Given the description of an element on the screen output the (x, y) to click on. 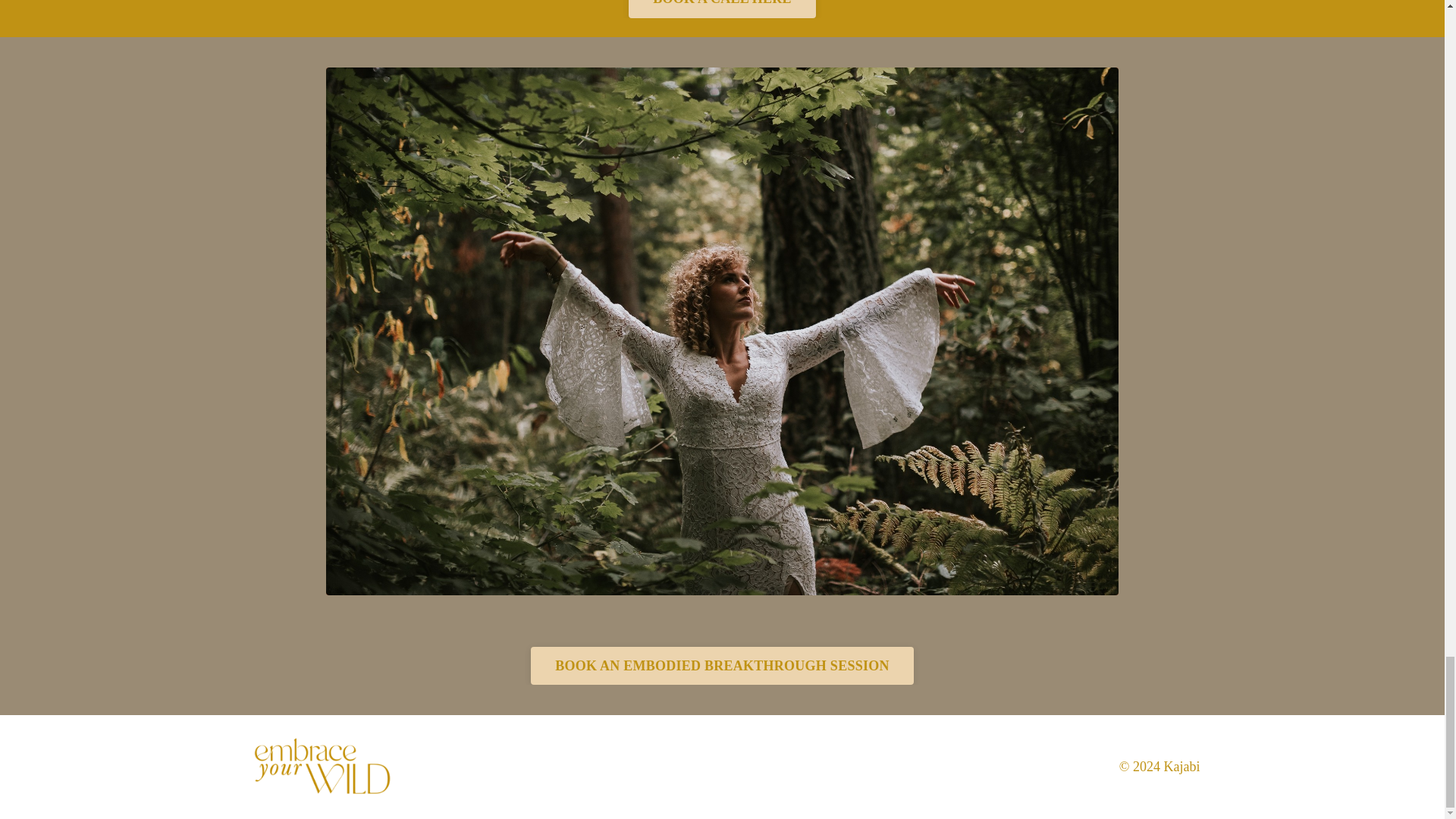
BOOK AN EMBODIED BREAKTHROUGH SESSION (721, 665)
BOOK A CALL HERE (721, 9)
